Given the description of an element on the screen output the (x, y) to click on. 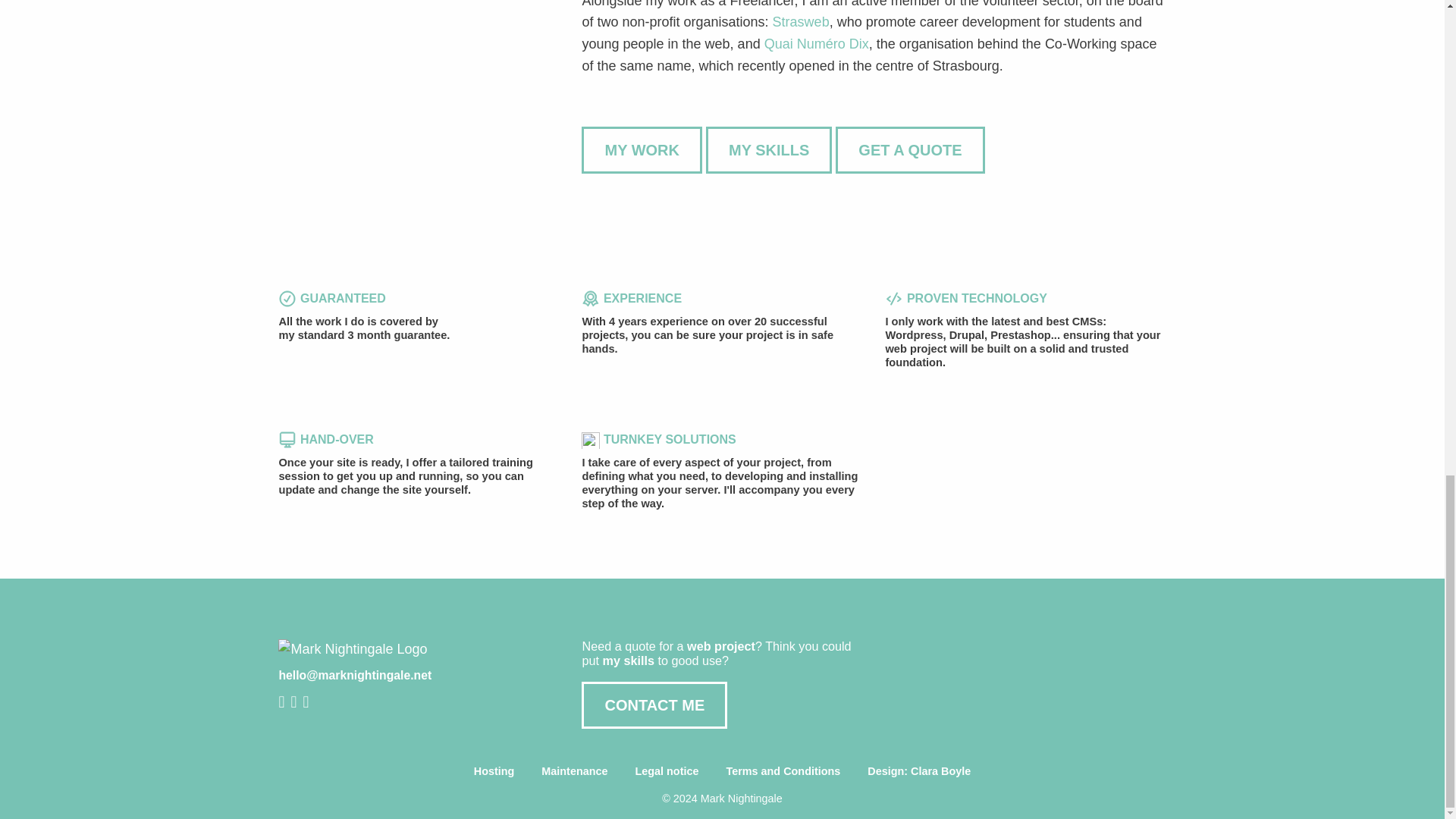
MY SKILLS (768, 149)
Design: Clara Boyle (918, 770)
Strasweb (801, 21)
Legal notice (666, 770)
Maintenance (574, 770)
Hosting (494, 770)
CONTACT ME (653, 704)
GET A QUOTE (909, 149)
MY WORK (640, 149)
Terms and Conditions (782, 770)
